Given the description of an element on the screen output the (x, y) to click on. 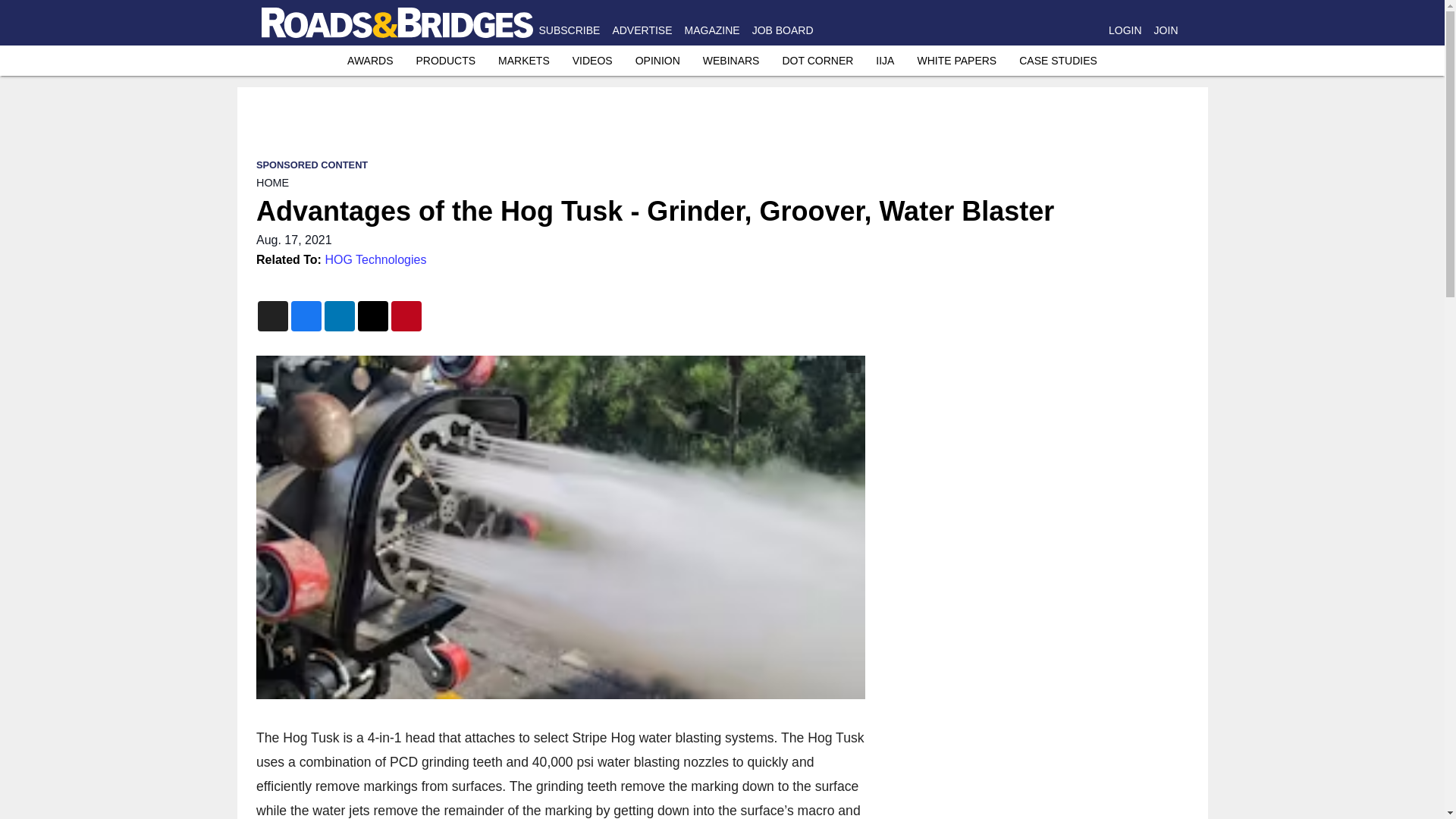
IIJA (884, 60)
OPINION (656, 60)
DOT CORNER (817, 60)
CASE STUDIES (1058, 60)
ADVERTISE (641, 30)
JOB BOARD (782, 30)
VIDEOS (592, 60)
MAGAZINE (711, 30)
LOGIN (1124, 30)
